Given the description of an element on the screen output the (x, y) to click on. 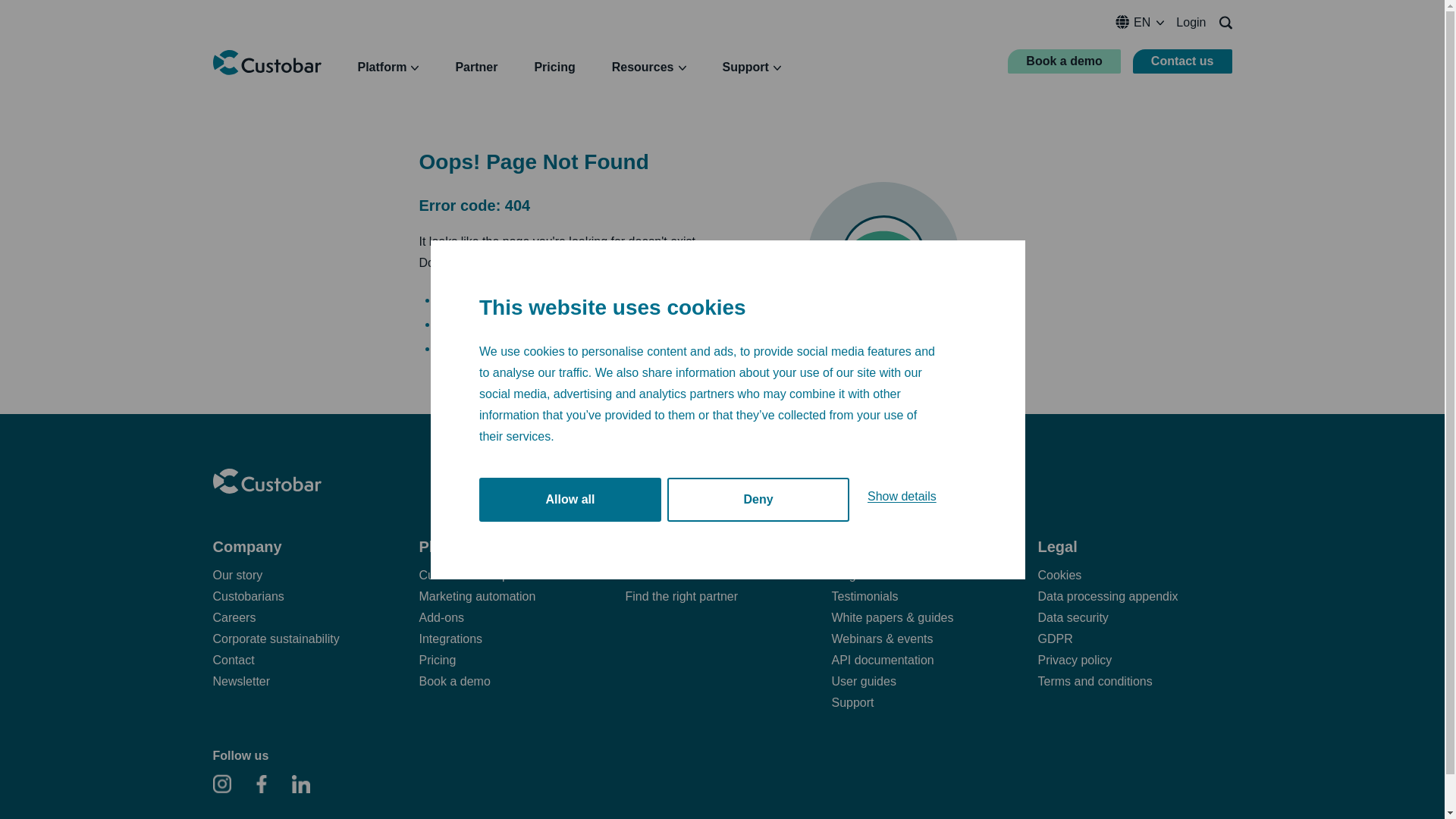
Show details (902, 544)
Allow all (570, 566)
Deny (757, 555)
